Given the description of an element on the screen output the (x, y) to click on. 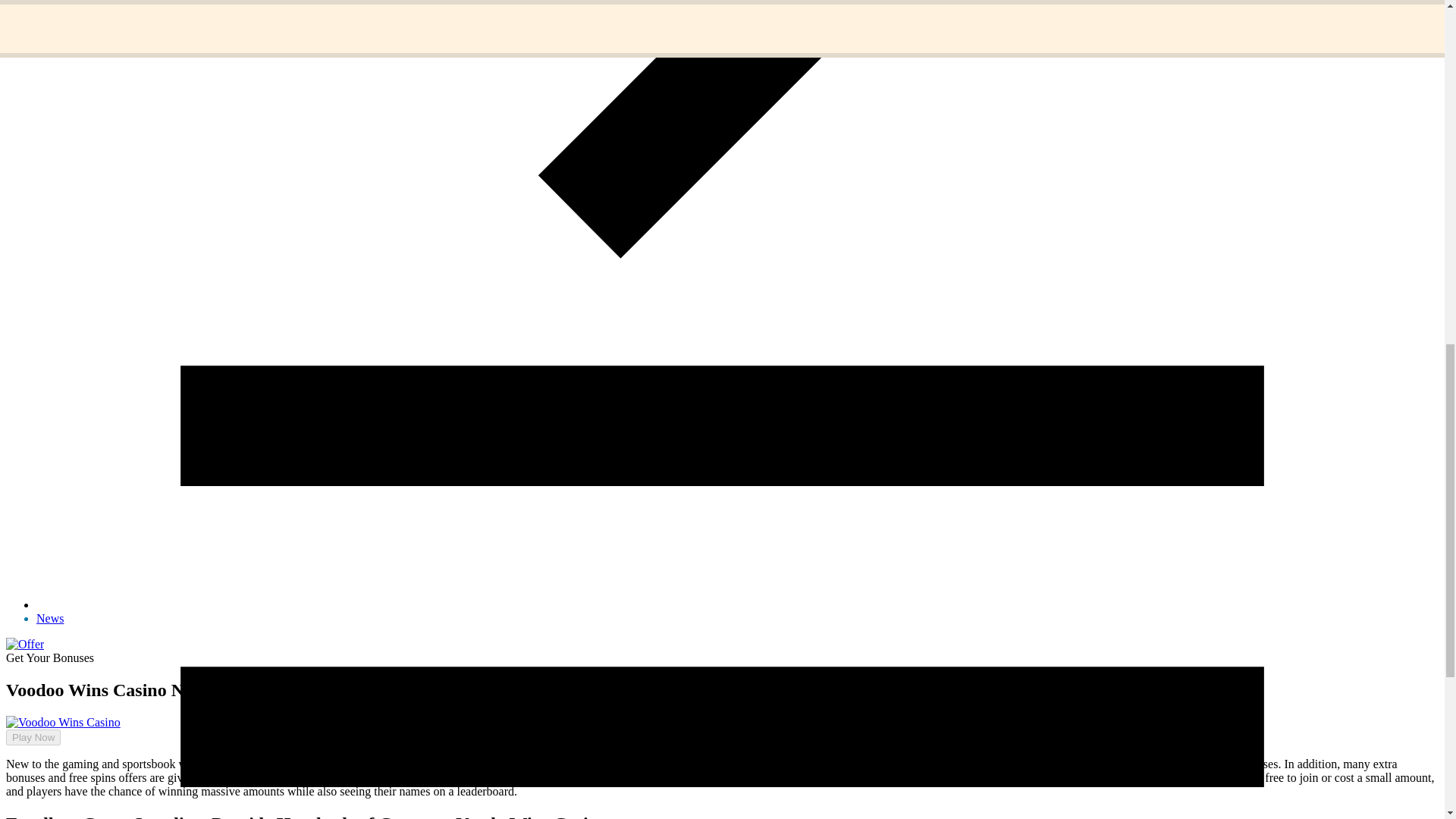
News (50, 617)
Play Now (27, 709)
Play Now (33, 737)
